Given the description of an element on the screen output the (x, y) to click on. 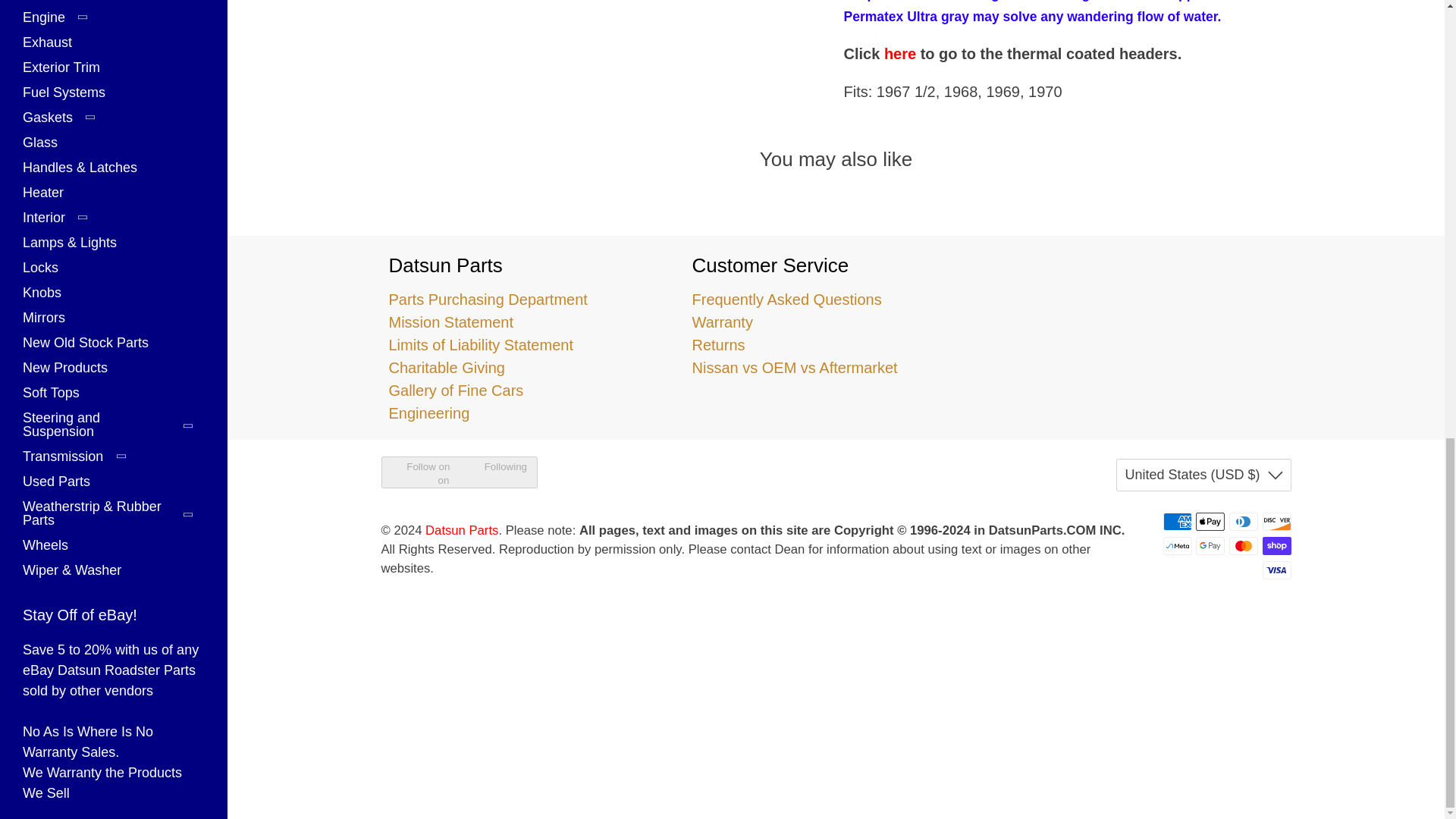
American Express (1177, 521)
Visa (1276, 570)
Mastercard (1242, 546)
Datsun Parts (1138, 305)
Google Pay (1209, 546)
Discover (1276, 521)
Apple Pay (1209, 521)
Shop Pay (1276, 546)
Meta Pay (1177, 546)
Diners Club (1242, 521)
